Given the description of an element on the screen output the (x, y) to click on. 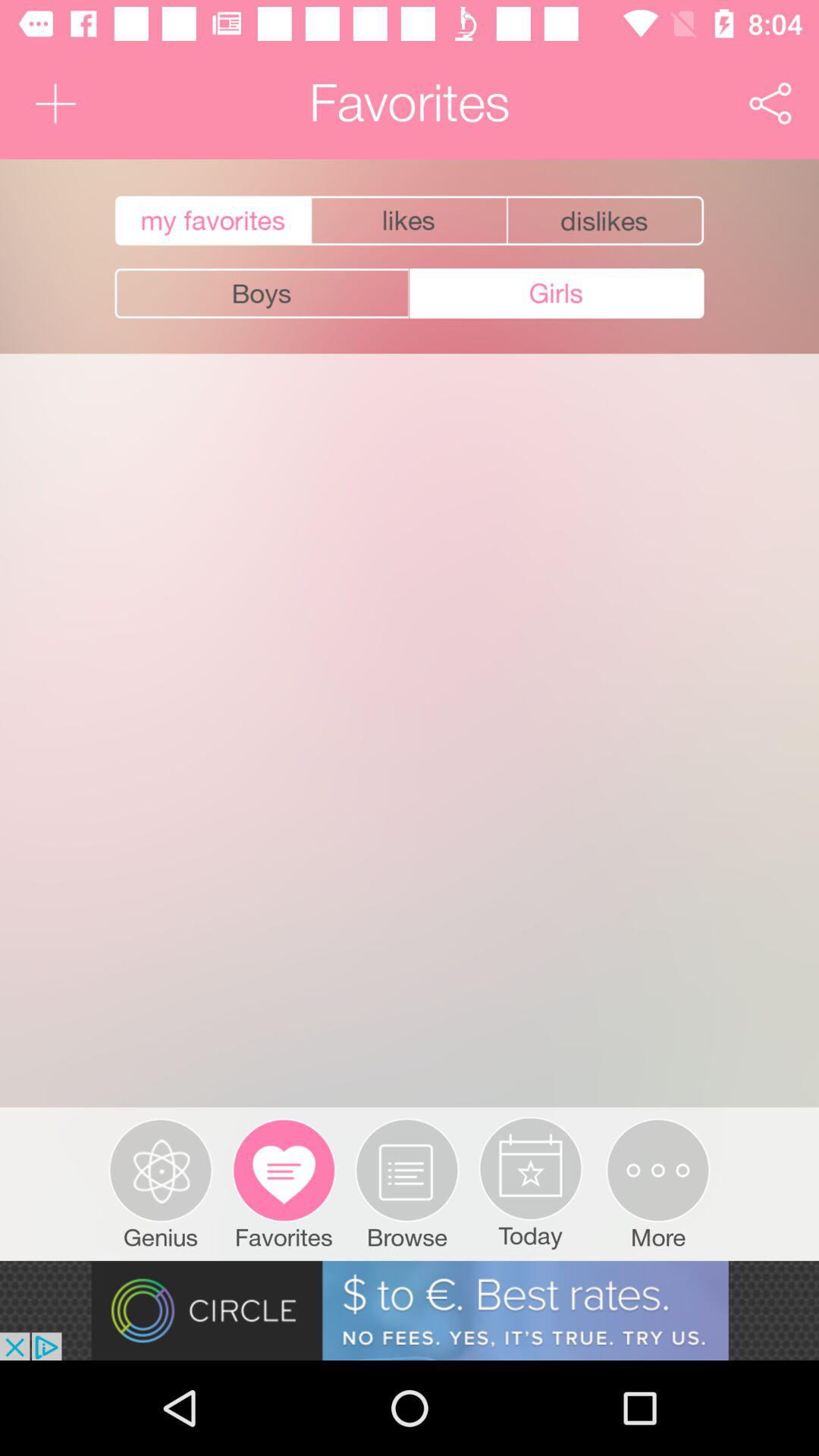
dislikes (606, 220)
